Given the description of an element on the screen output the (x, y) to click on. 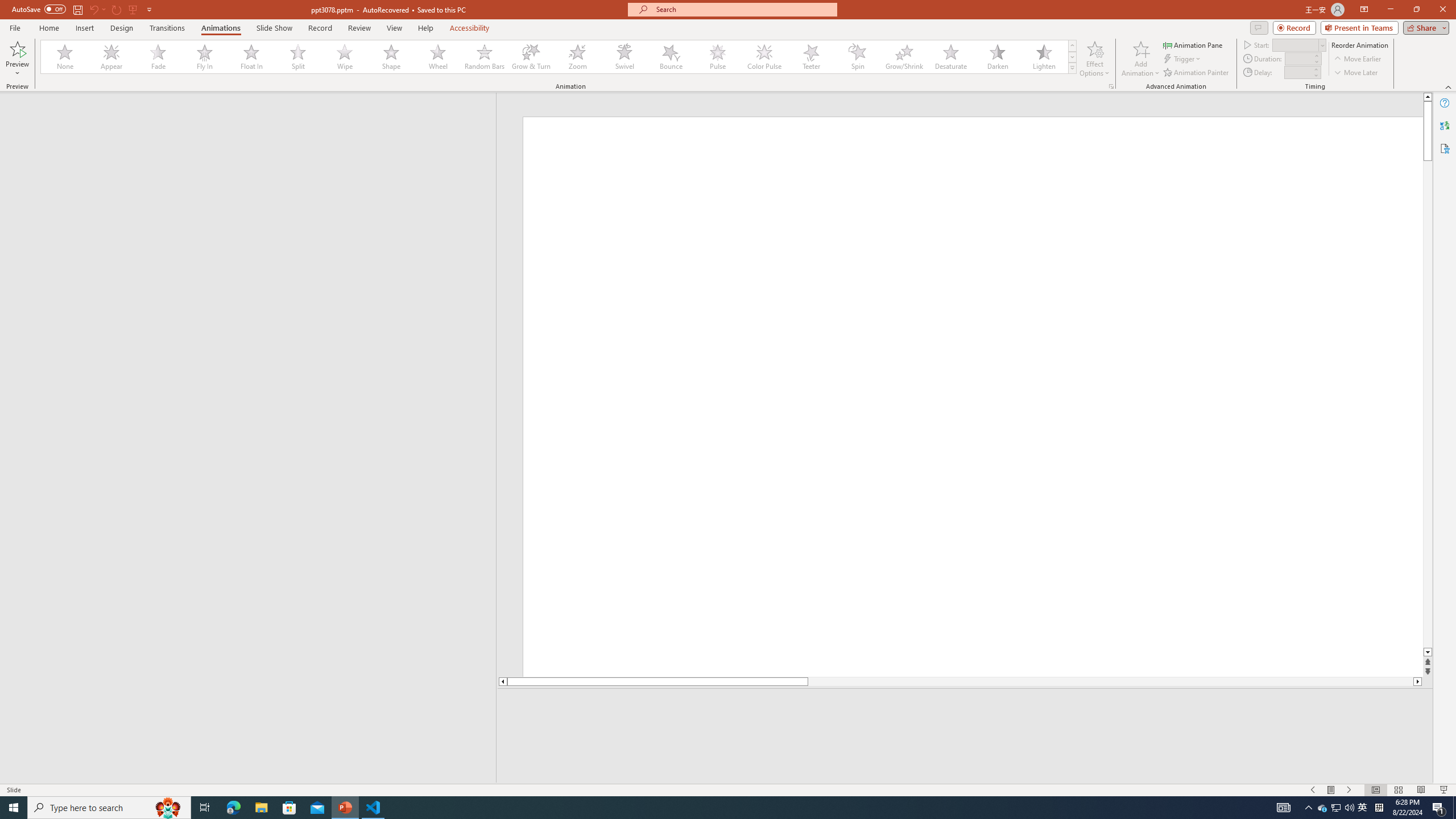
Slide Show Next On (1349, 790)
AutomationID: AnimationGallery (558, 56)
Animation Painter (1196, 72)
Darken (997, 56)
Animation Duration (1298, 58)
Teeter (810, 56)
Desaturate (950, 56)
Move Earlier (1357, 58)
Trigger (1182, 58)
